Given the description of an element on the screen output the (x, y) to click on. 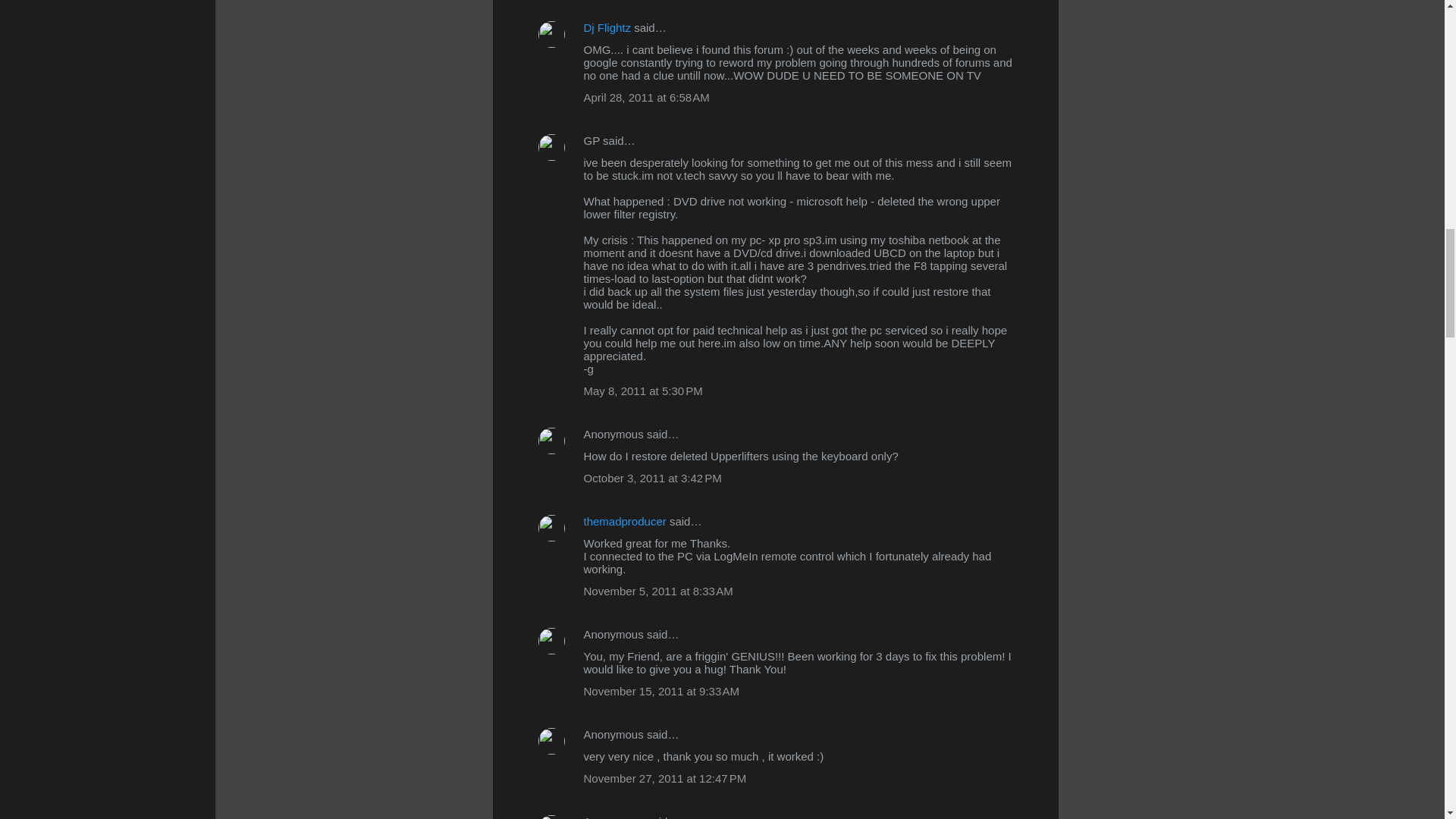
Dj Flightz (607, 27)
themadproducer (624, 521)
